Given the description of an element on the screen output the (x, y) to click on. 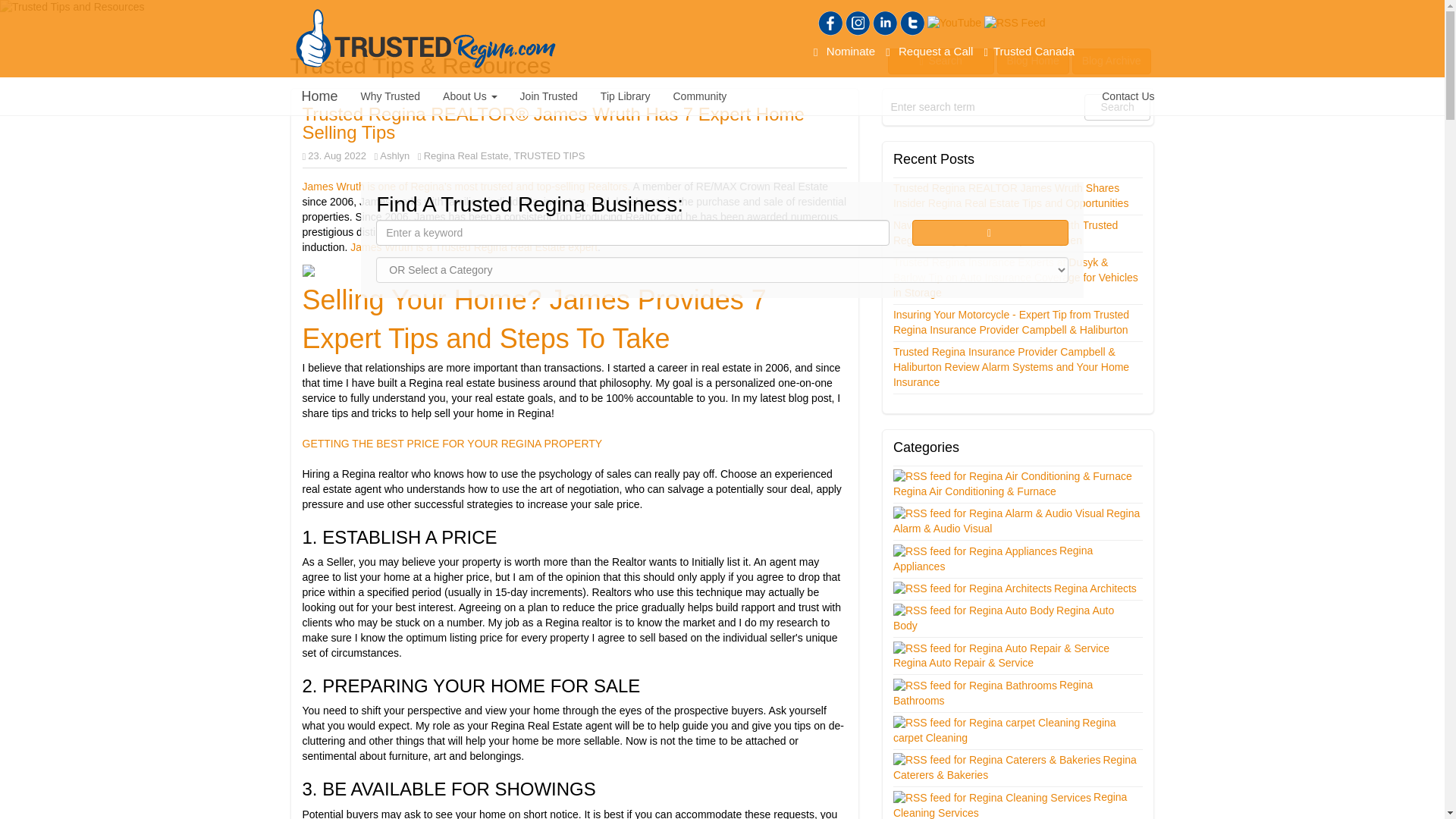
RSS Feed (1014, 23)
James Wruth is a Trusted Regina Real Estate expert (473, 246)
Instagram (857, 23)
TRUSTED TIPS (549, 155)
Trusted Regina (424, 38)
Tip Library (625, 95)
Community (699, 95)
Search (990, 232)
Join Trusted (548, 95)
Blog Home (1032, 61)
YouTube (954, 23)
Blog Archive (1111, 61)
GETTING THE BEST PRICE FOR YOUR REGINA PROPERTY (451, 443)
  Nominate (844, 51)
